Given the description of an element on the screen output the (x, y) to click on. 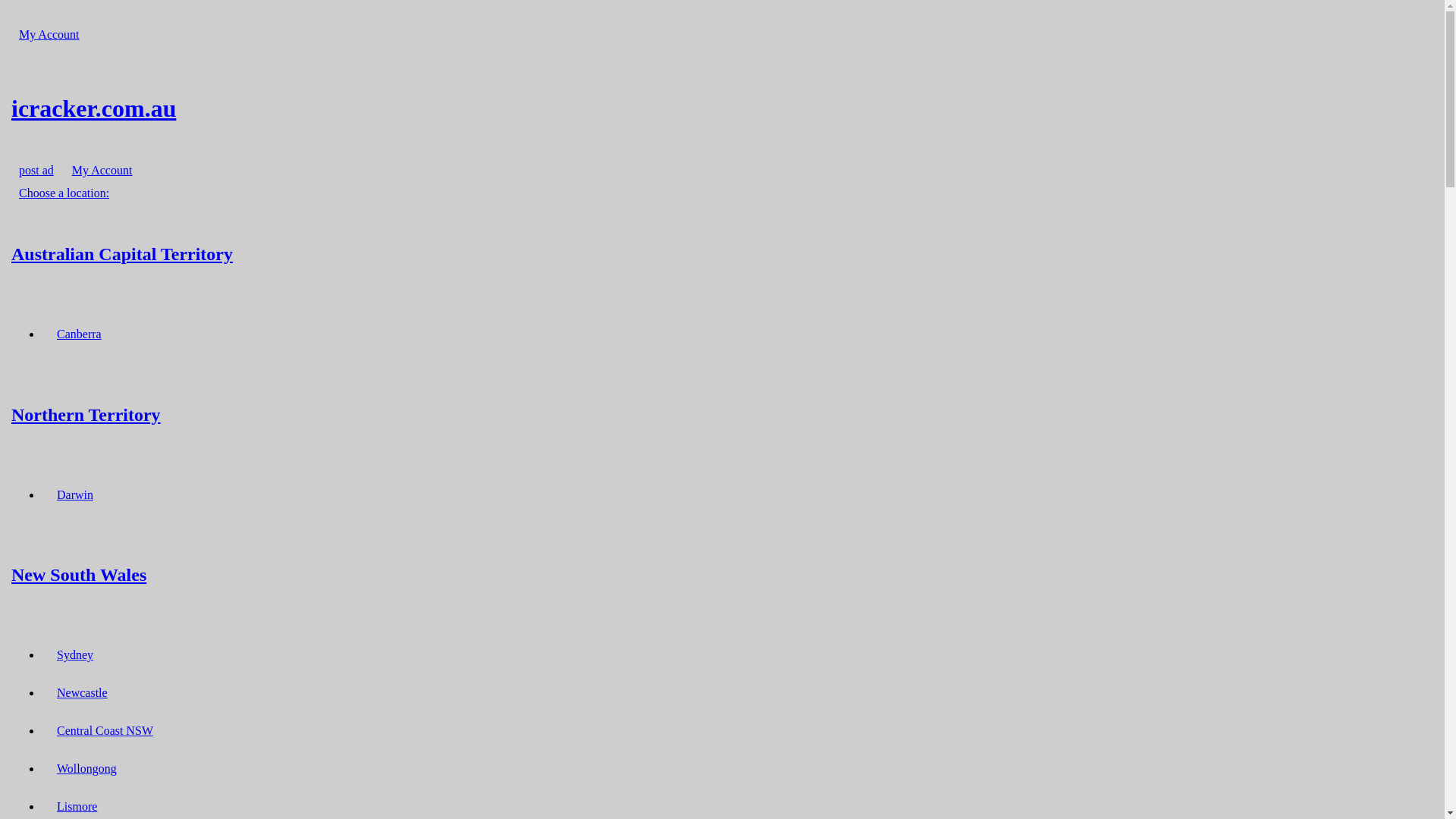
Canberra Element type: text (79, 334)
Australian Capital Territory Element type: text (722, 253)
post ad Element type: text (36, 170)
Sydney Element type: text (74, 654)
Northern Territory Element type: text (722, 414)
New South Wales Element type: text (722, 575)
My Account Element type: text (49, 34)
Wollongong Element type: text (86, 768)
Choose a location: Element type: text (63, 192)
Central Coast NSW Element type: text (104, 730)
icracker.com.au Element type: text (722, 108)
Newcastle Element type: text (82, 692)
Darwin Element type: text (74, 494)
My Account Element type: text (102, 170)
